Given the description of an element on the screen output the (x, y) to click on. 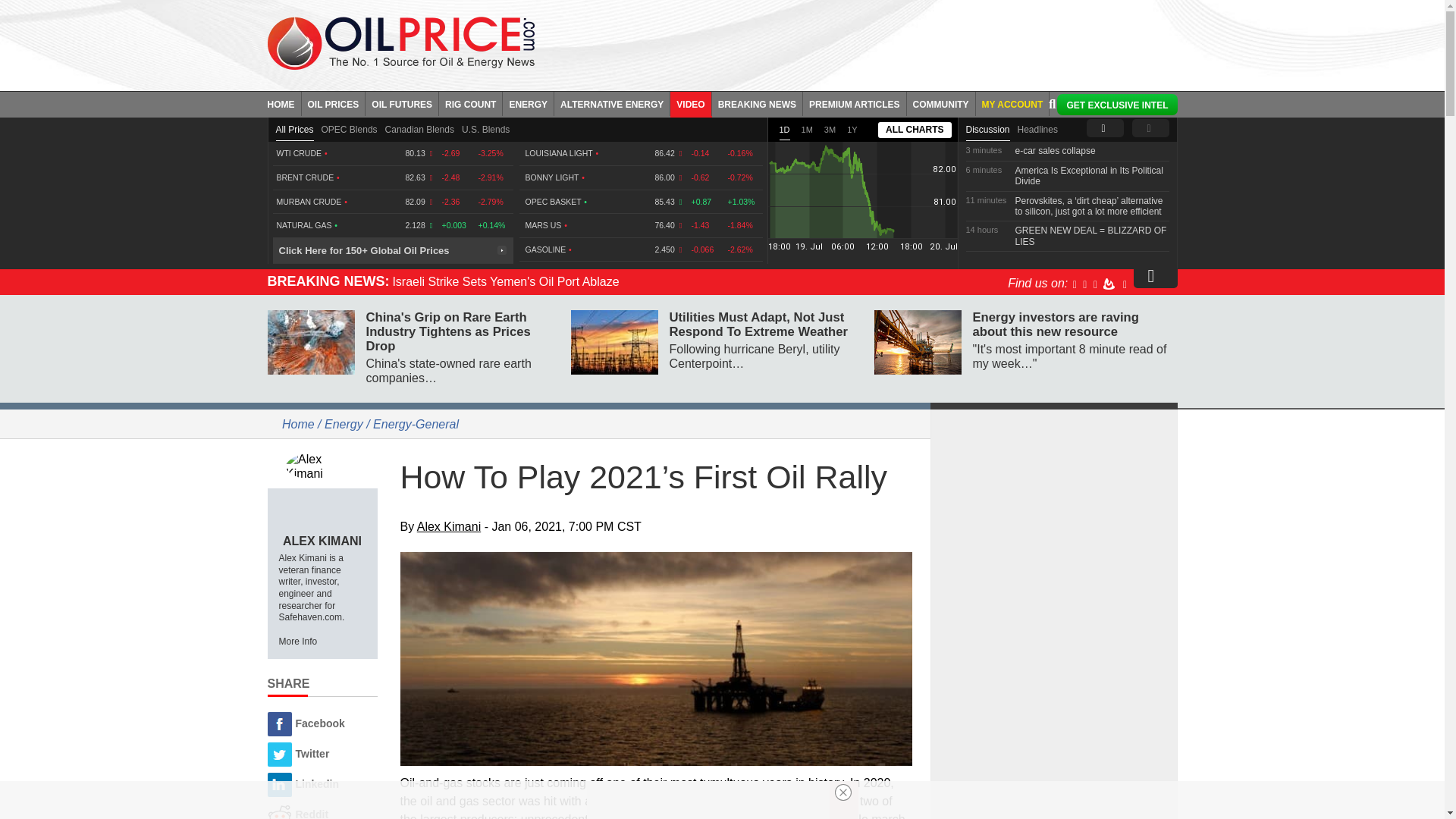
Utilities Must Adapt, Not Just Respond To Extreme Weather (614, 342)
BREAKING NEWS (757, 103)
VIDEO (690, 103)
Offshore (656, 658)
ALTERNATIVE ENERGY (611, 103)
HOME (283, 103)
OIL FUTURES (402, 103)
3rd party ad content (1053, 722)
PREMIUM ARTICLES (855, 103)
China's Grip on Rare Earth Industry Tightens as Prices Drop (309, 342)
COMMUNITY (941, 103)
3rd party ad content (1053, 513)
Alex Kimani (321, 466)
ENERGY (528, 103)
3rd party ad content (866, 41)
